Given the description of an element on the screen output the (x, y) to click on. 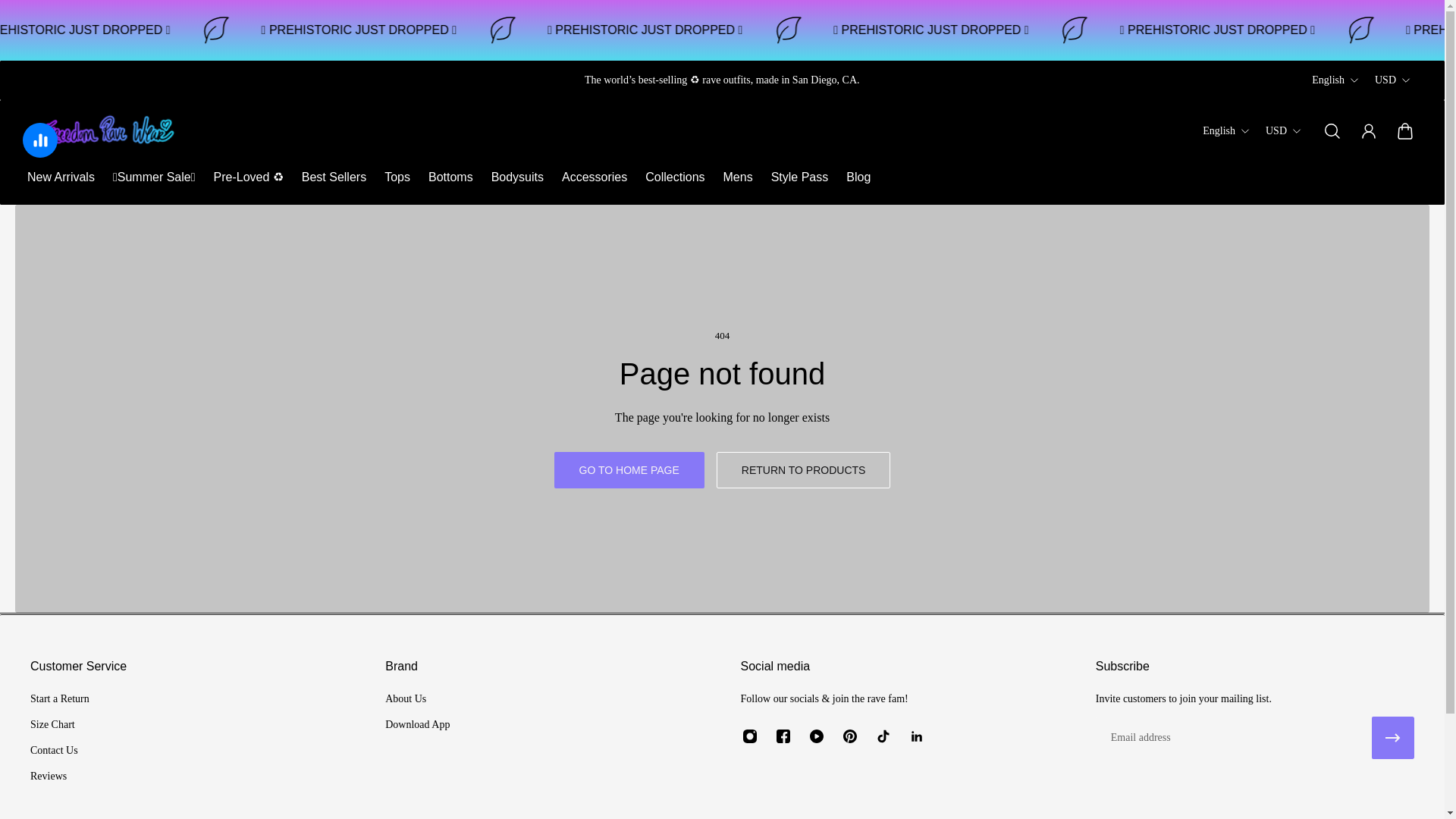
SKIP TO CONTENT (24, 21)
Style Pass (799, 177)
Contact Us (59, 750)
Best Sellers (333, 177)
Size Chart (59, 724)
New Arrivals (60, 177)
Download App (417, 724)
About Us (417, 699)
Start a Return (59, 699)
Blog (858, 177)
Reviews (59, 776)
Bodysuits (517, 177)
RETURN TO PRODUCTS (803, 470)
Mens (737, 177)
Bottoms (450, 177)
